Given the description of an element on the screen output the (x, y) to click on. 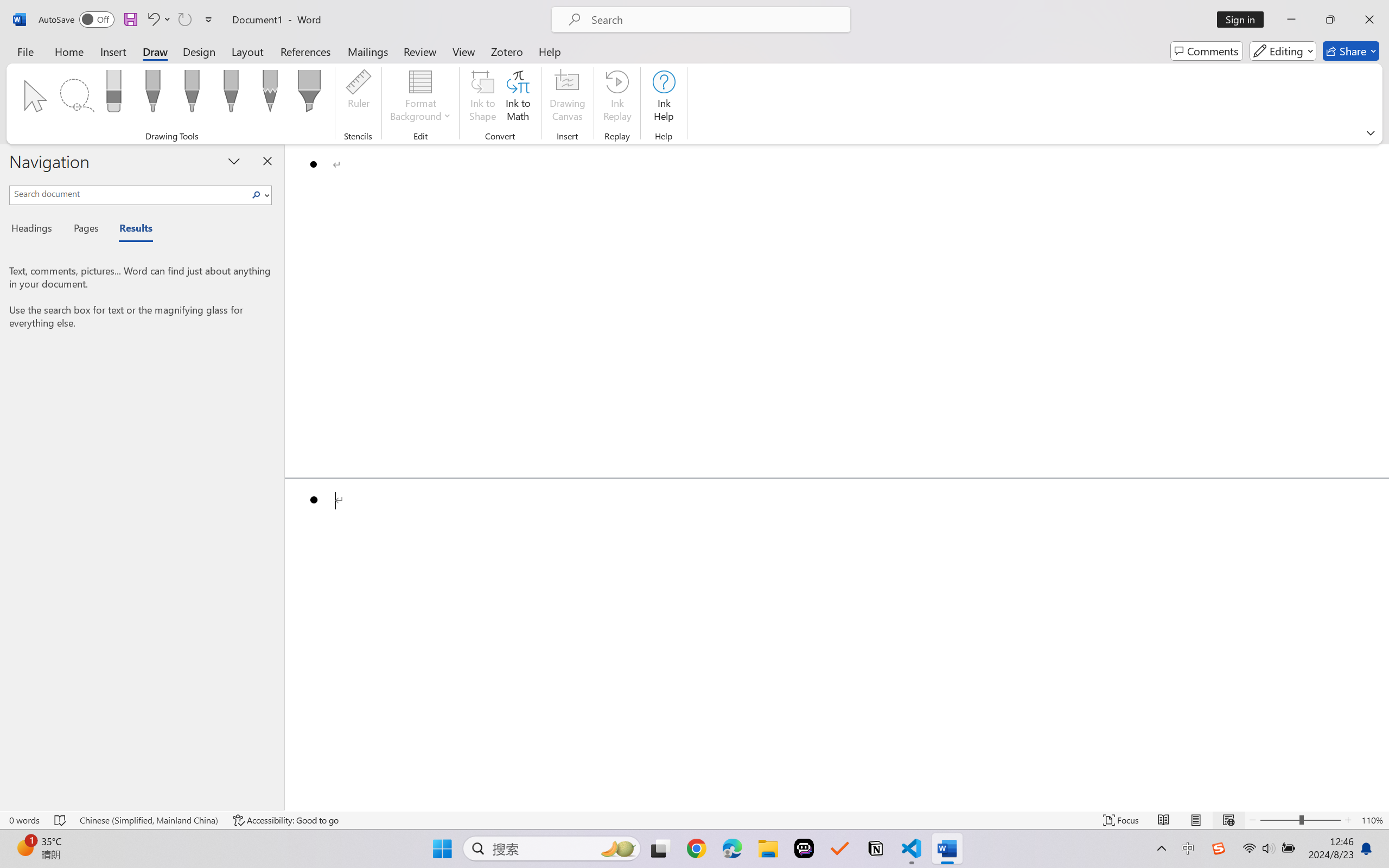
Pen: Black, 0.5 mm (152, 94)
Ruler (358, 97)
Pages (85, 229)
Ink to Math (517, 97)
Pencil: Gray, 1 mm (270, 94)
